Given the description of an element on the screen output the (x, y) to click on. 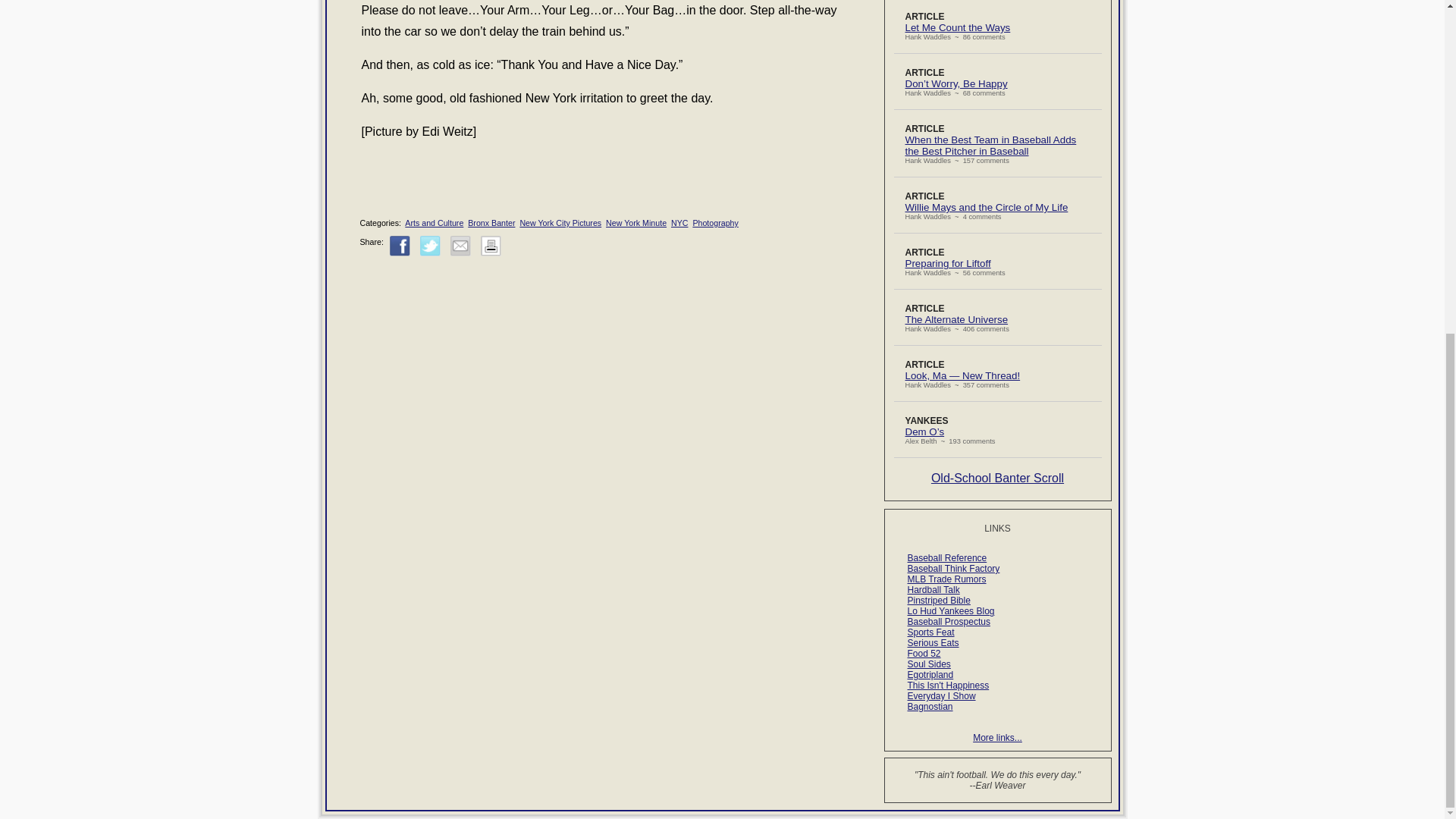
Permanent link to Let Me Count the Ways (957, 27)
Share on Facebook (400, 245)
Share on Twitter (430, 245)
Permanent link to Willie Mays and the Circle of My Life (986, 206)
Share via email (459, 245)
Print This Post (490, 245)
Print This Post (490, 252)
